Given the description of an element on the screen output the (x, y) to click on. 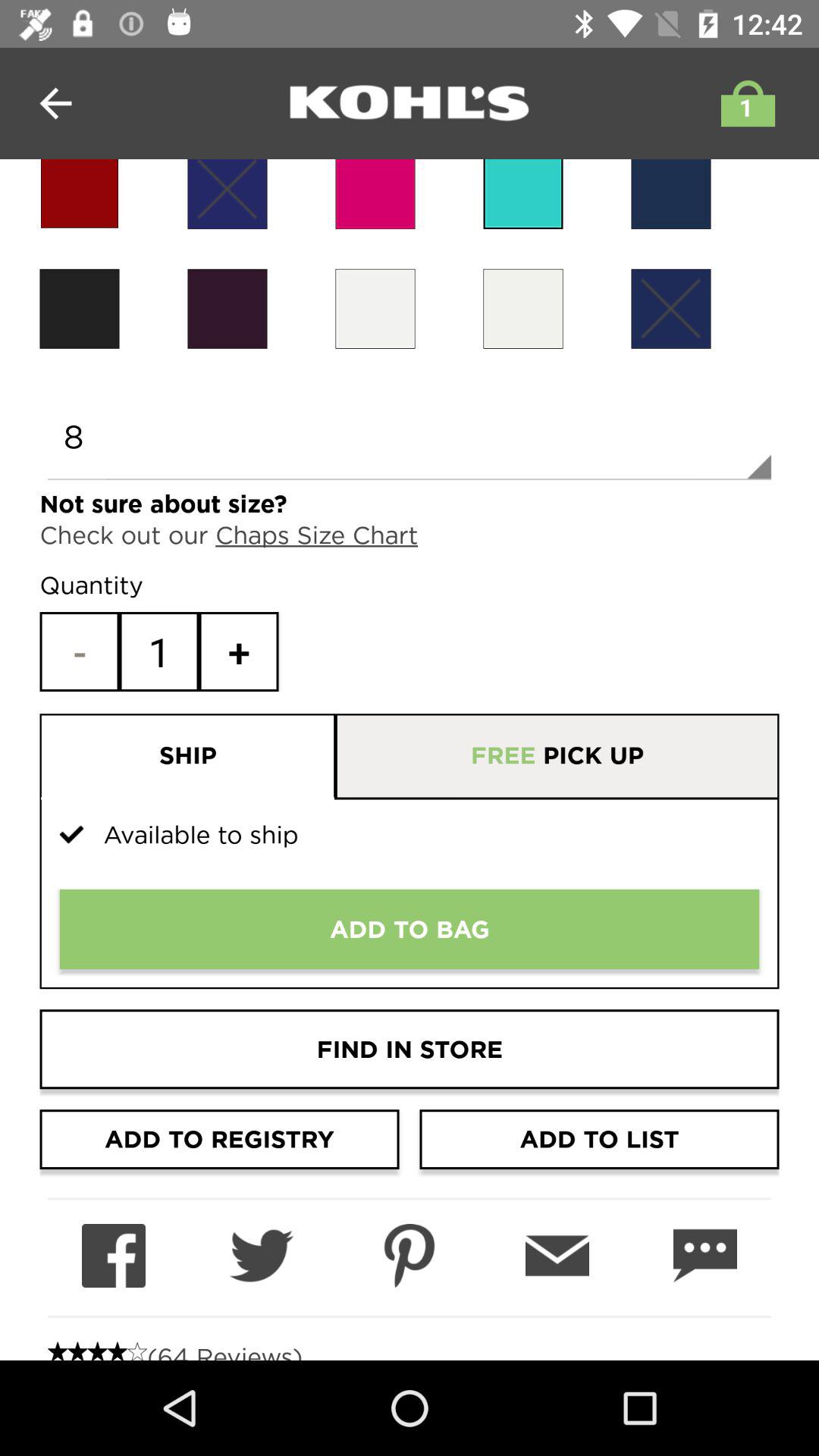
select color red (79, 194)
